Given the description of an element on the screen output the (x, y) to click on. 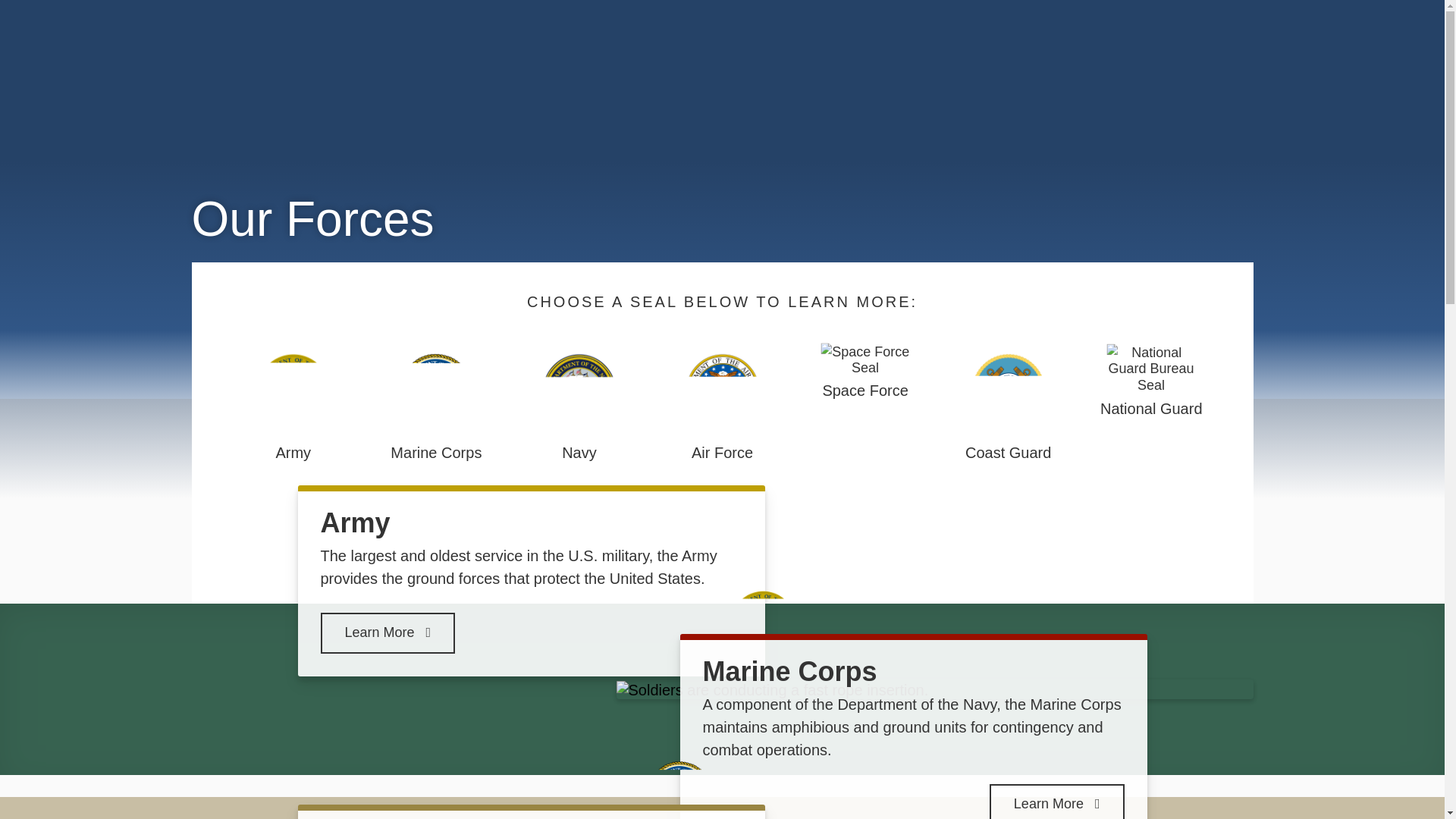
Army (293, 401)
Marine Corps (435, 401)
National Guard (1151, 379)
Air Force (721, 401)
CHOOSE A SEAL BELOW TO LEARN MORE: (722, 301)
Navy (579, 401)
Space Force (865, 370)
Coast Guard (1007, 401)
